Given the description of an element on the screen output the (x, y) to click on. 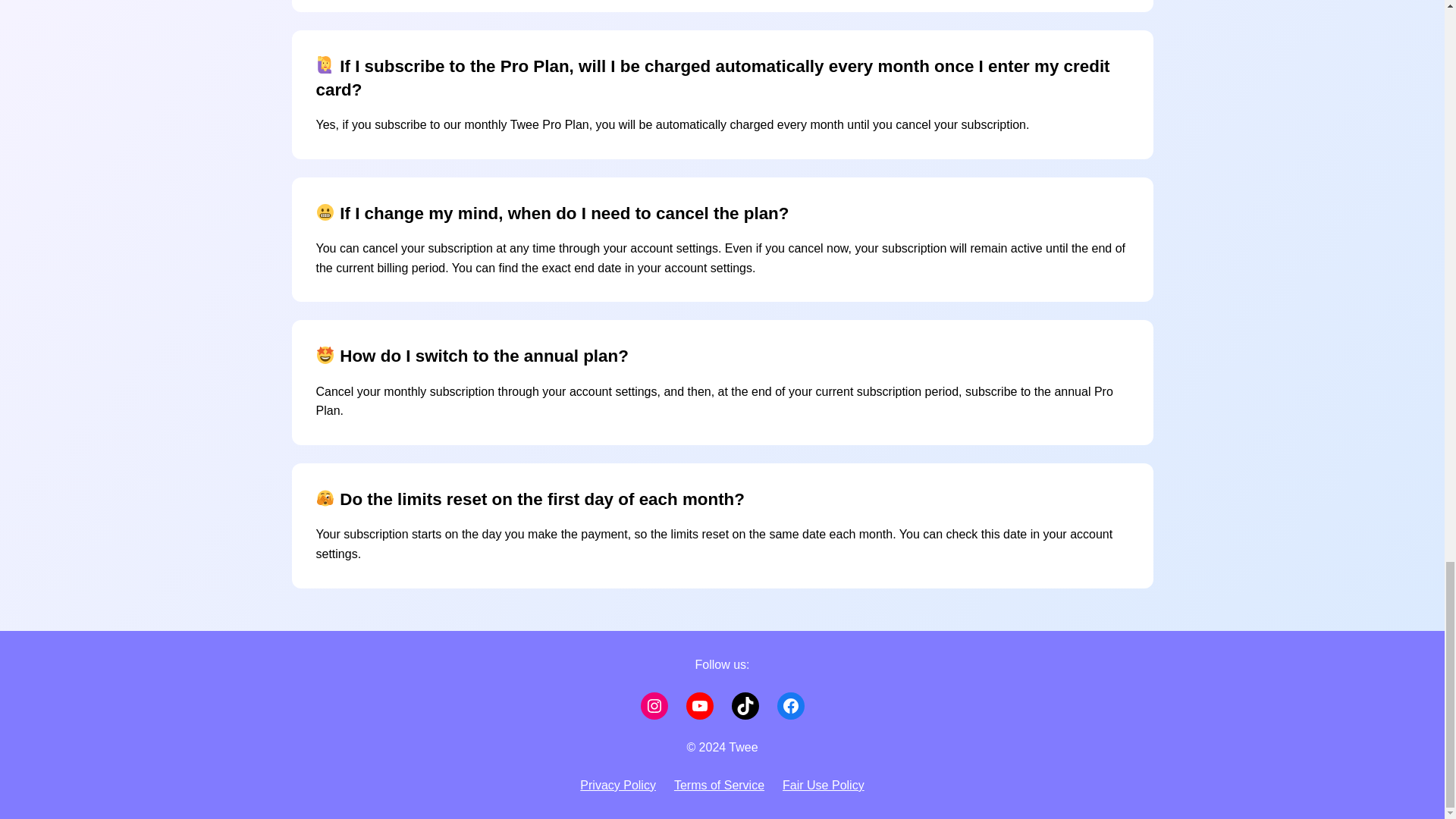
YouTube (699, 705)
Fair Use Policy (823, 784)
Terms of Service (719, 784)
TikTok (744, 705)
Facebook (789, 705)
Privacy Policy (617, 784)
